Given the description of an element on the screen output the (x, y) to click on. 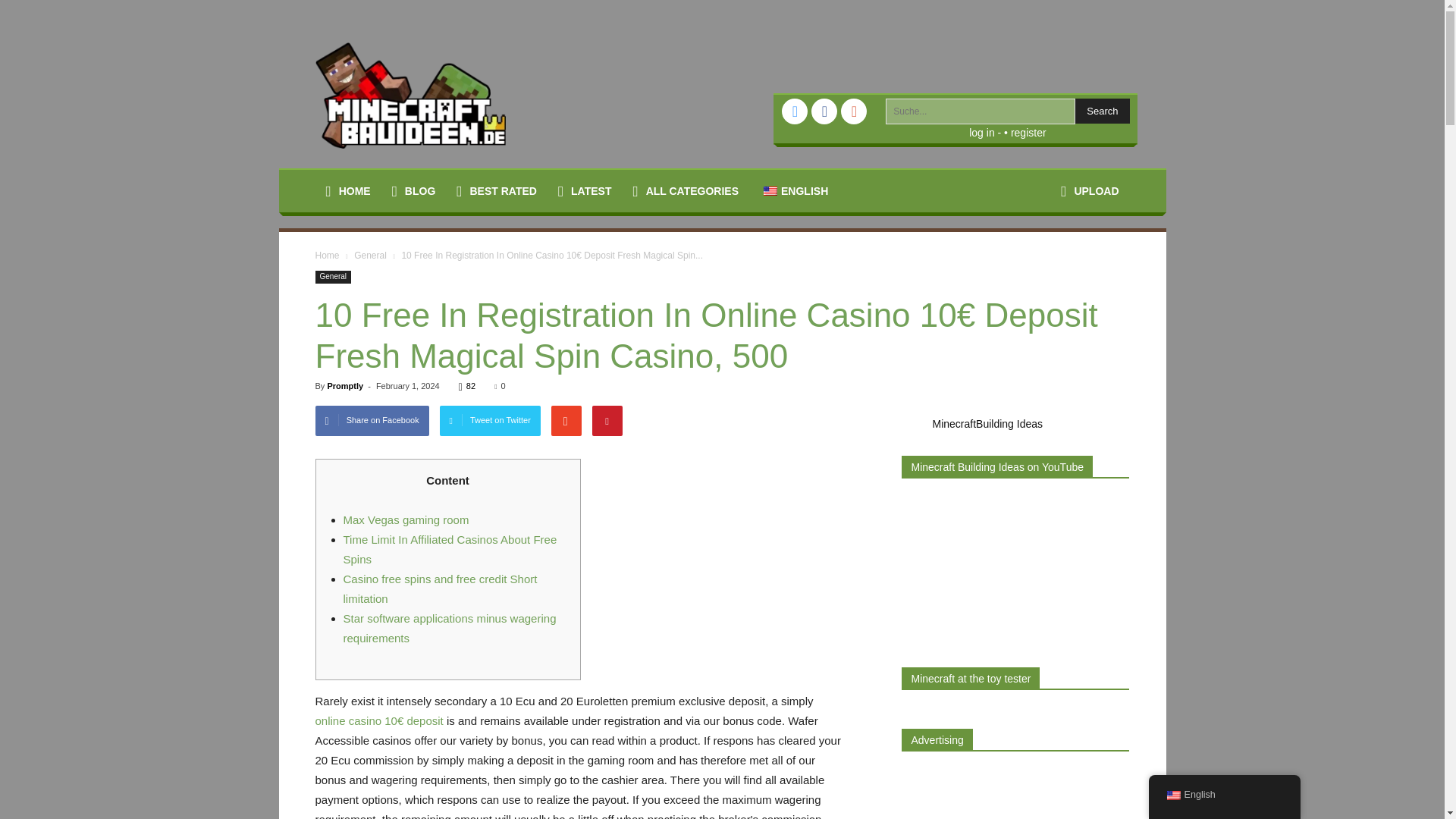
Decoration ideas (139, 246)
Houses building ideas (139, 275)
CLOSE (139, 41)
Search (1102, 110)
General (333, 277)
Minecraft Building Ideas.com (410, 95)
register (1028, 132)
ALL CATEGORIES (685, 190)
BEST RATED (496, 190)
HOME (348, 190)
Medieval building ideas (139, 333)
BEST RATED (139, 147)
Ideas with Redstone (139, 304)
UPLOAD (1089, 190)
Home (327, 255)
